Given the description of an element on the screen output the (x, y) to click on. 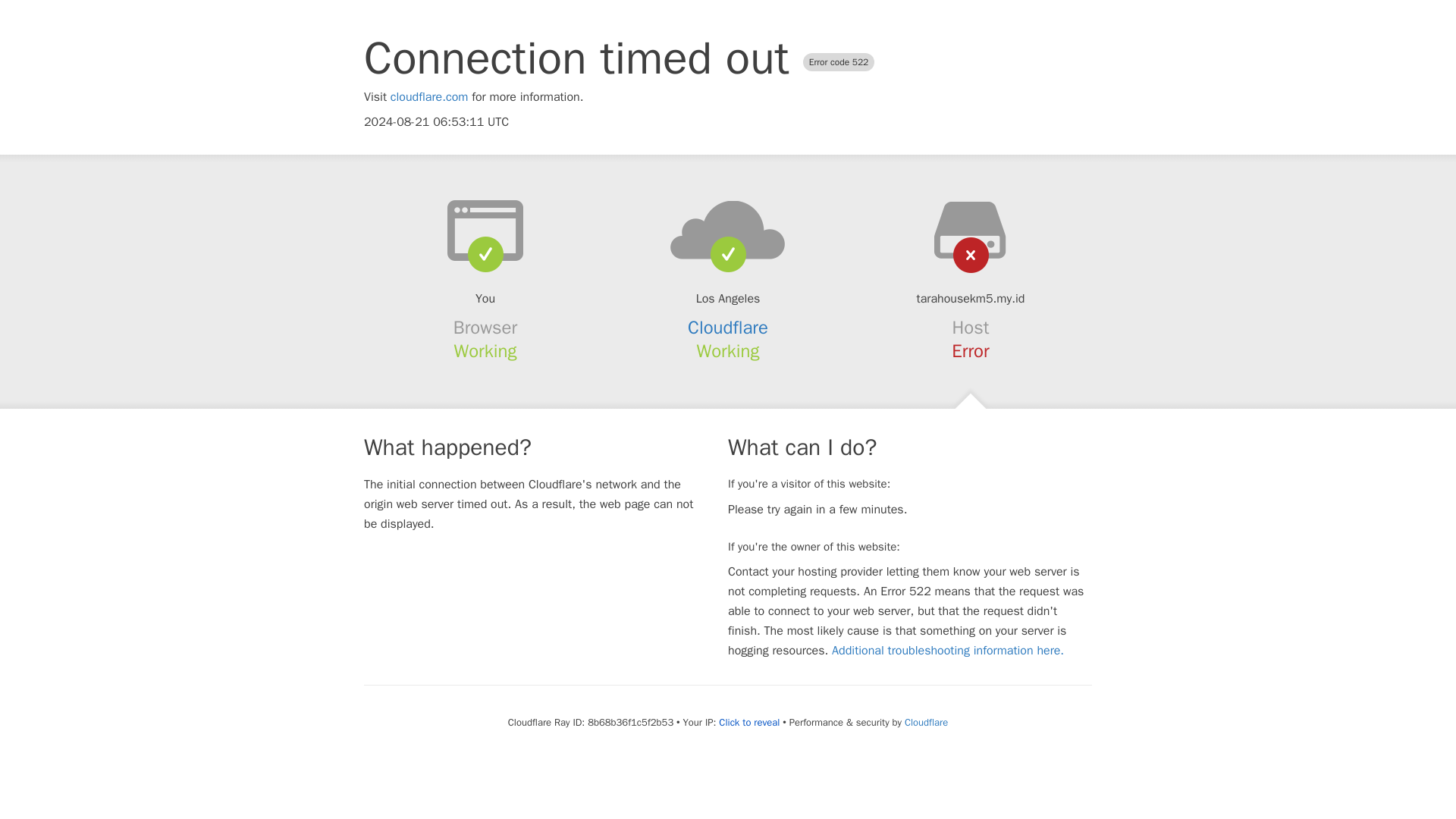
Click to reveal (748, 722)
Cloudflare (727, 327)
Additional troubleshooting information here. (947, 650)
cloudflare.com (429, 96)
Cloudflare (925, 721)
